Given the description of an element on the screen output the (x, y) to click on. 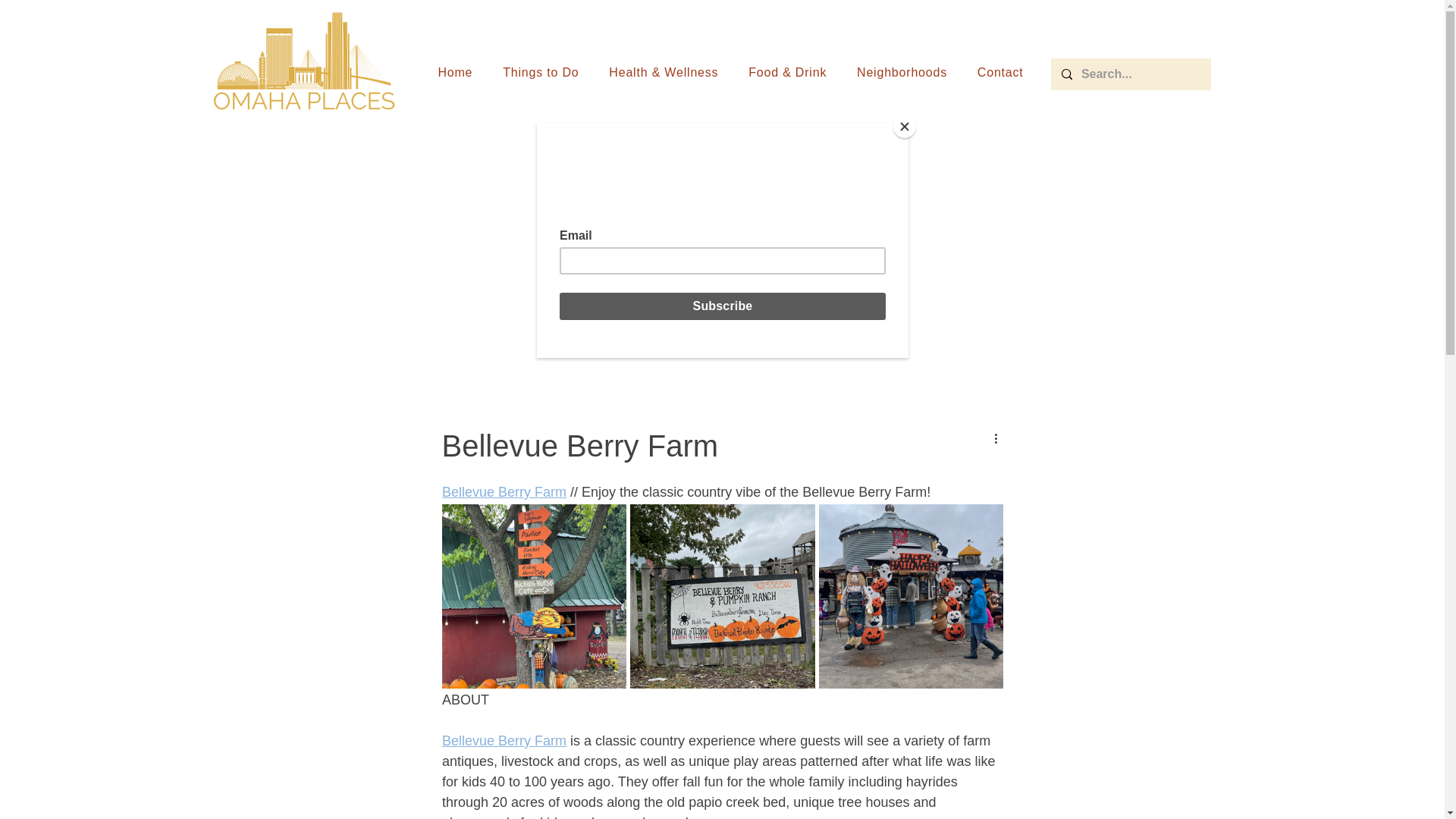
Neighborhoods (901, 72)
Bellevue Berry Farm (503, 740)
Bellevue Berry Farm (503, 491)
Contact (1000, 72)
Home (455, 72)
Things to Do (540, 72)
